Given the description of an element on the screen output the (x, y) to click on. 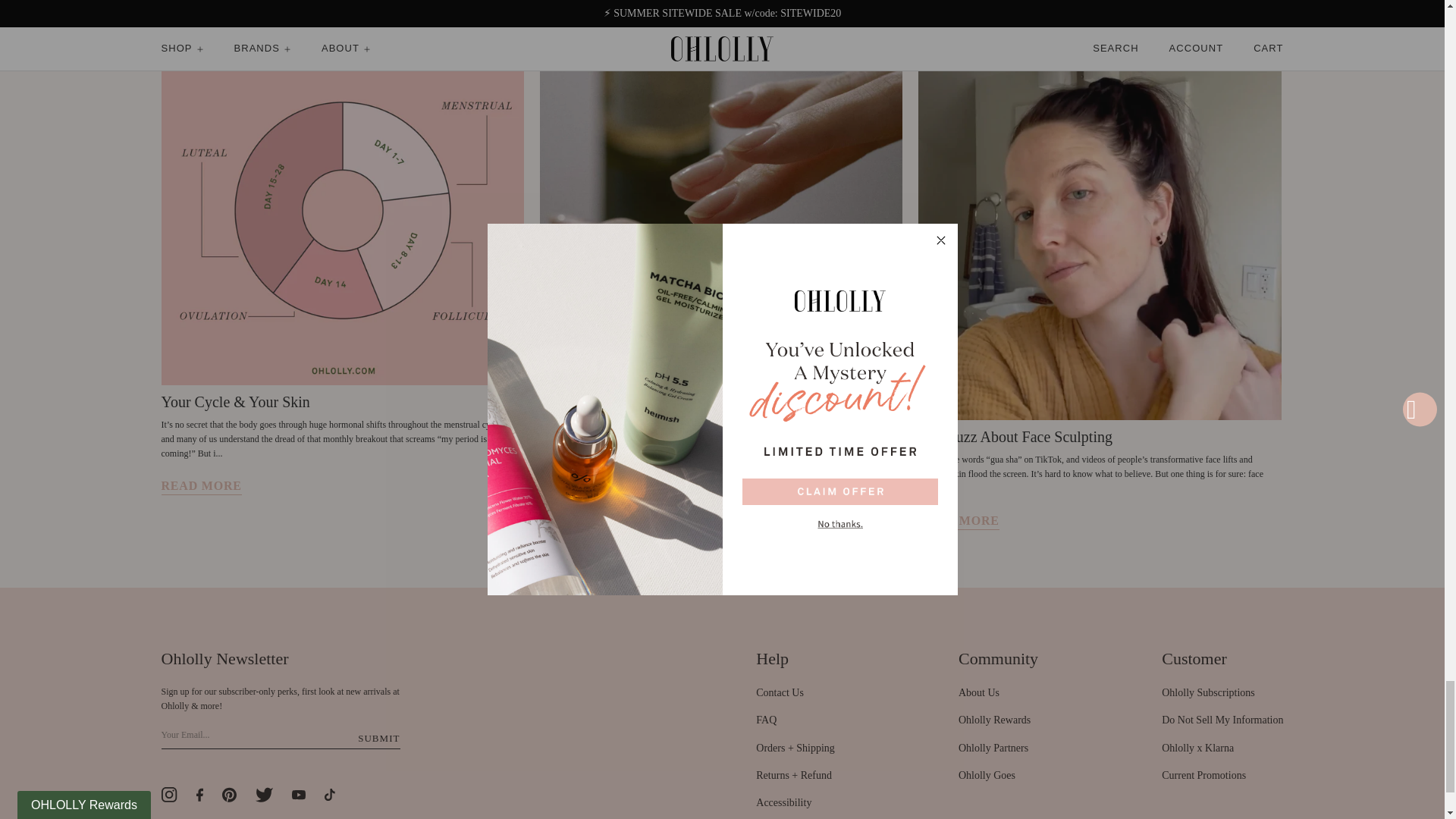
Register (378, 738)
